Given the description of an element on the screen output the (x, y) to click on. 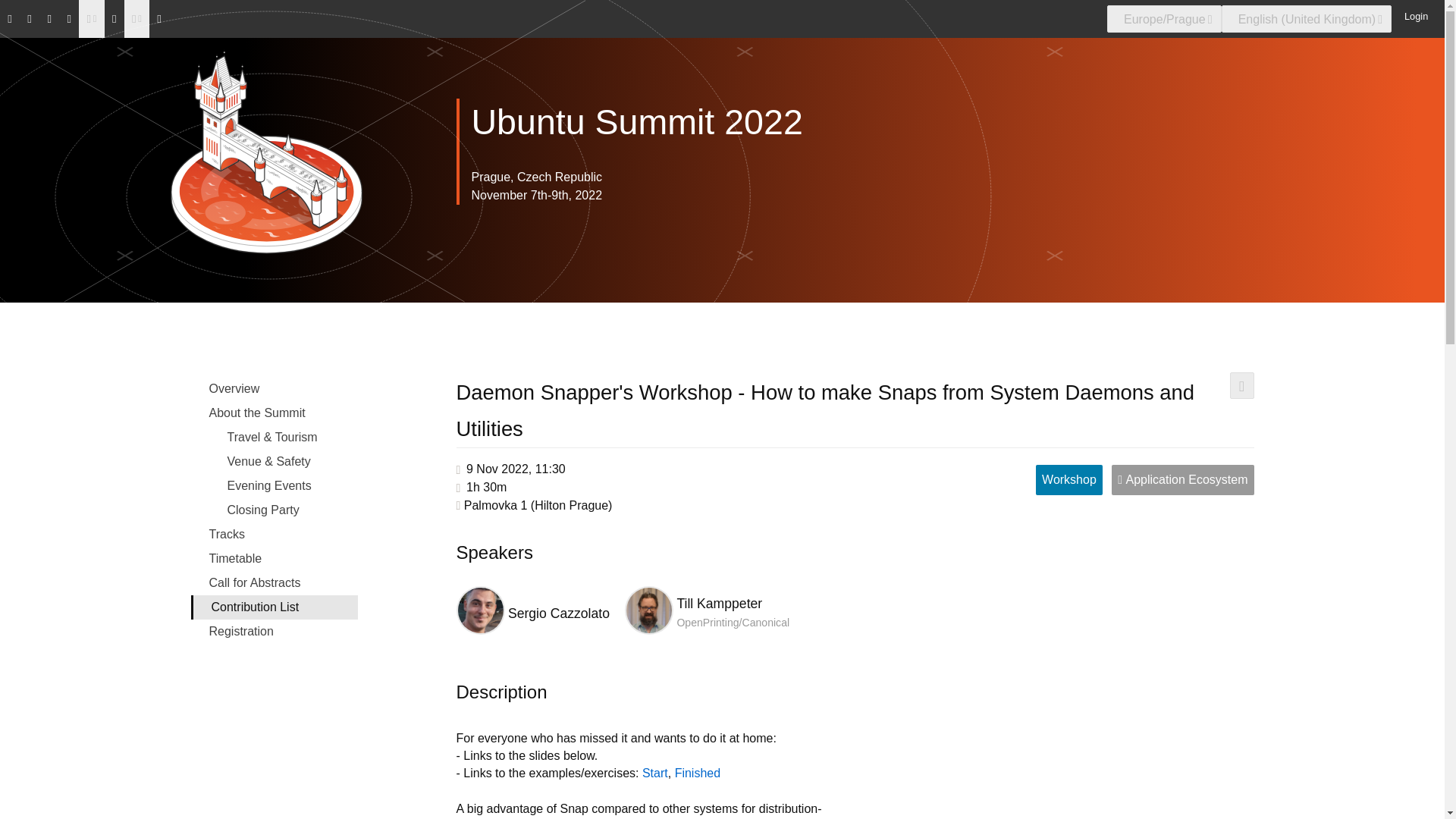
Login (1412, 15)
Closing Party (274, 509)
Timetable (274, 558)
About the Summit (274, 413)
Duration (485, 486)
Overview (274, 388)
Tracks (274, 534)
Evening Events (274, 485)
